Given the description of an element on the screen output the (x, y) to click on. 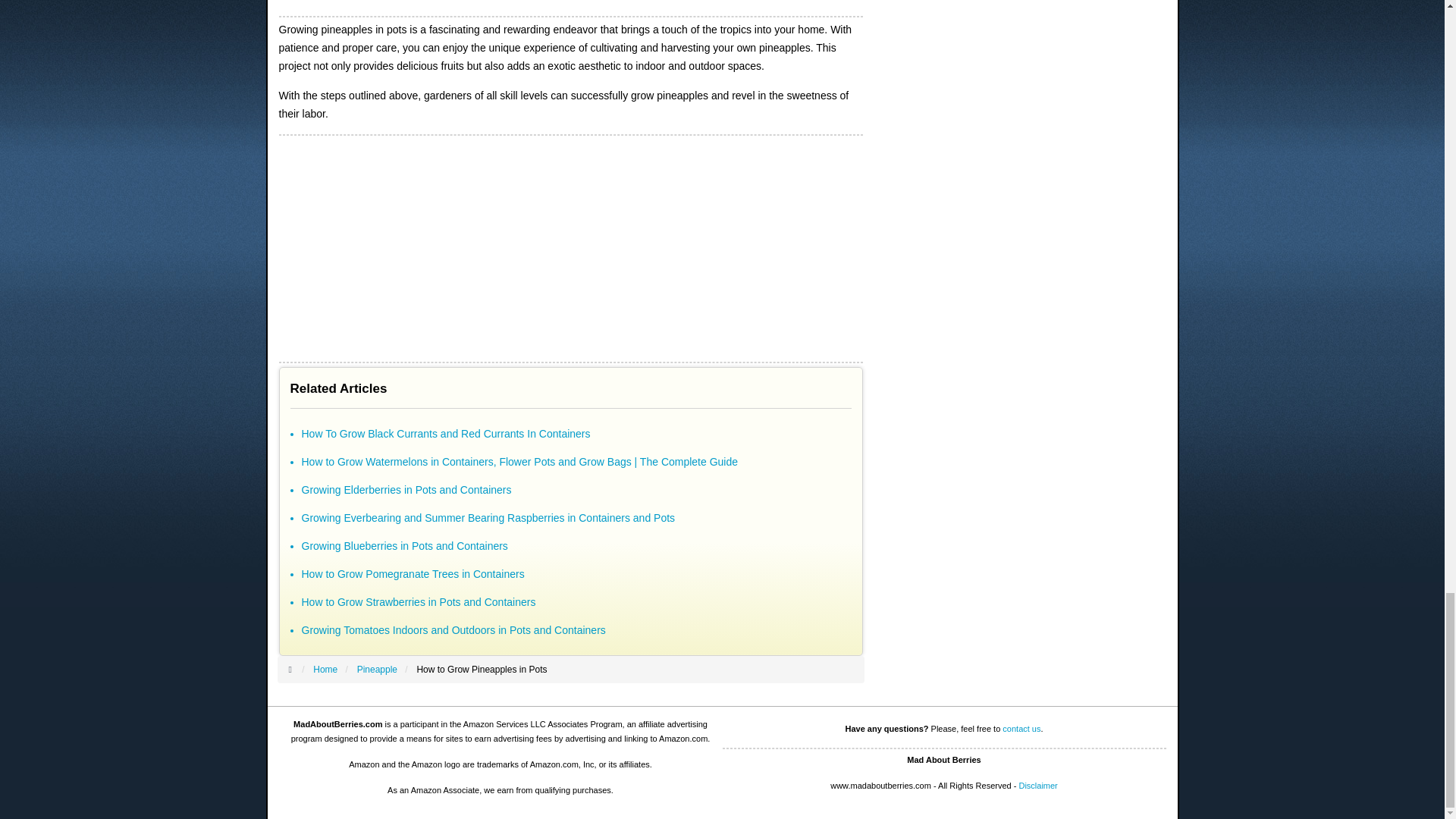
Growing Blueberries in Pots and Containers (404, 545)
How To Grow Black Currants and Red Currants In Containers (446, 433)
Growing Tomatoes Indoors and Outdoors in Pots and Containers (453, 630)
Growing Elderberries in Pots and Containers (406, 490)
MadAboutBerries.com Disclaimer (1037, 785)
Mad About Berries - Contact Us (1022, 728)
Pineapple (376, 669)
How to Grow Pomegranate Trees in Containers (412, 573)
Home (325, 669)
How to Grow Strawberries in Pots and Containers (418, 602)
